Given the description of an element on the screen output the (x, y) to click on. 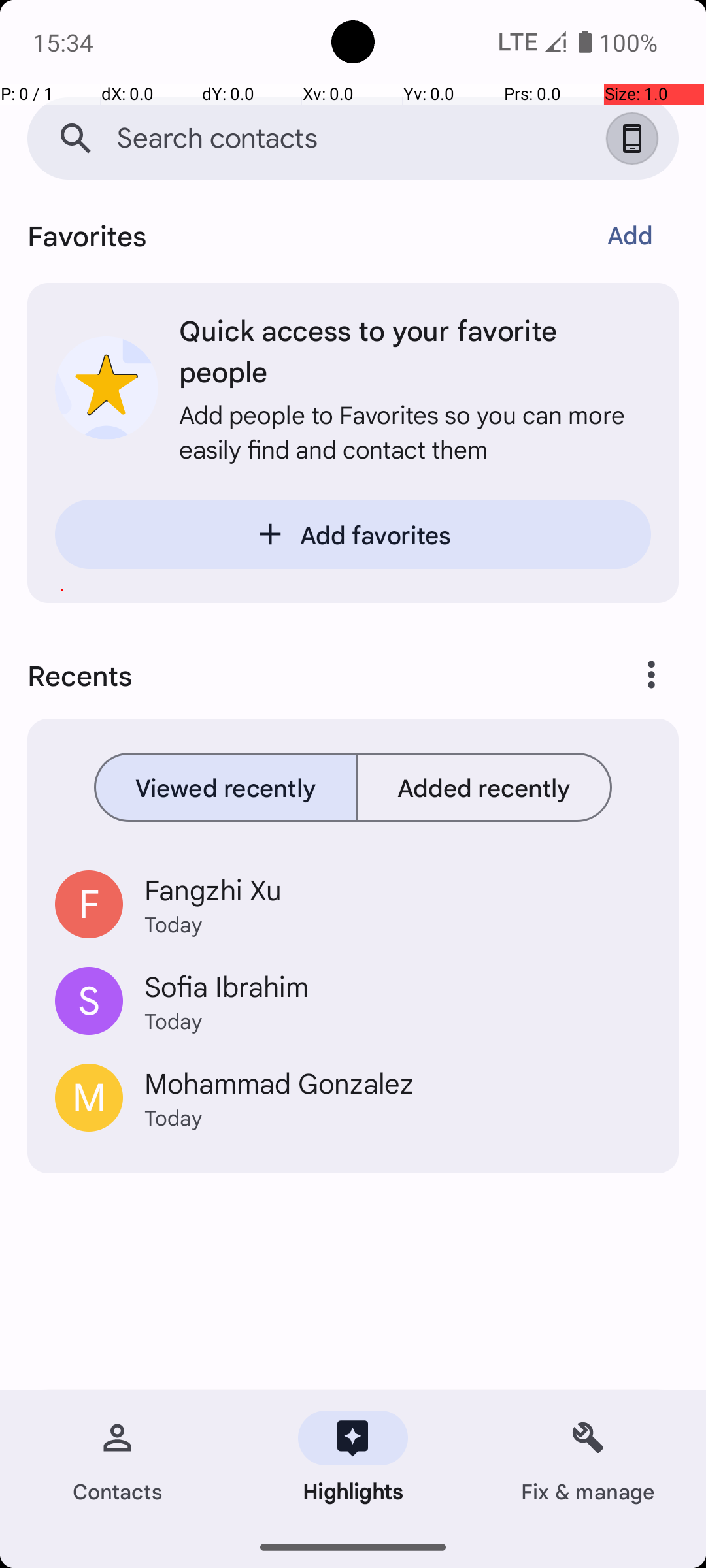
Quick access to your favorite people Element type: android.widget.TextView (415, 350)
Add people to Favorites so you can more easily find and contact them Element type: android.widget.TextView (415, 431)
Add favorites Element type: android.widget.Button (352, 534)
Recents Element type: android.widget.TextView (298, 674)
Viewed recently Element type: android.widget.CompoundButton (225, 787)
Added recently Element type: android.widget.CompoundButton (483, 787)
Fangzhi Xu Element type: android.widget.TextView (397, 888)
Sofia Ibrahim Element type: android.widget.TextView (397, 985)
Mohammad Gonzalez Element type: android.widget.TextView (397, 1082)
